Given the description of an element on the screen output the (x, y) to click on. 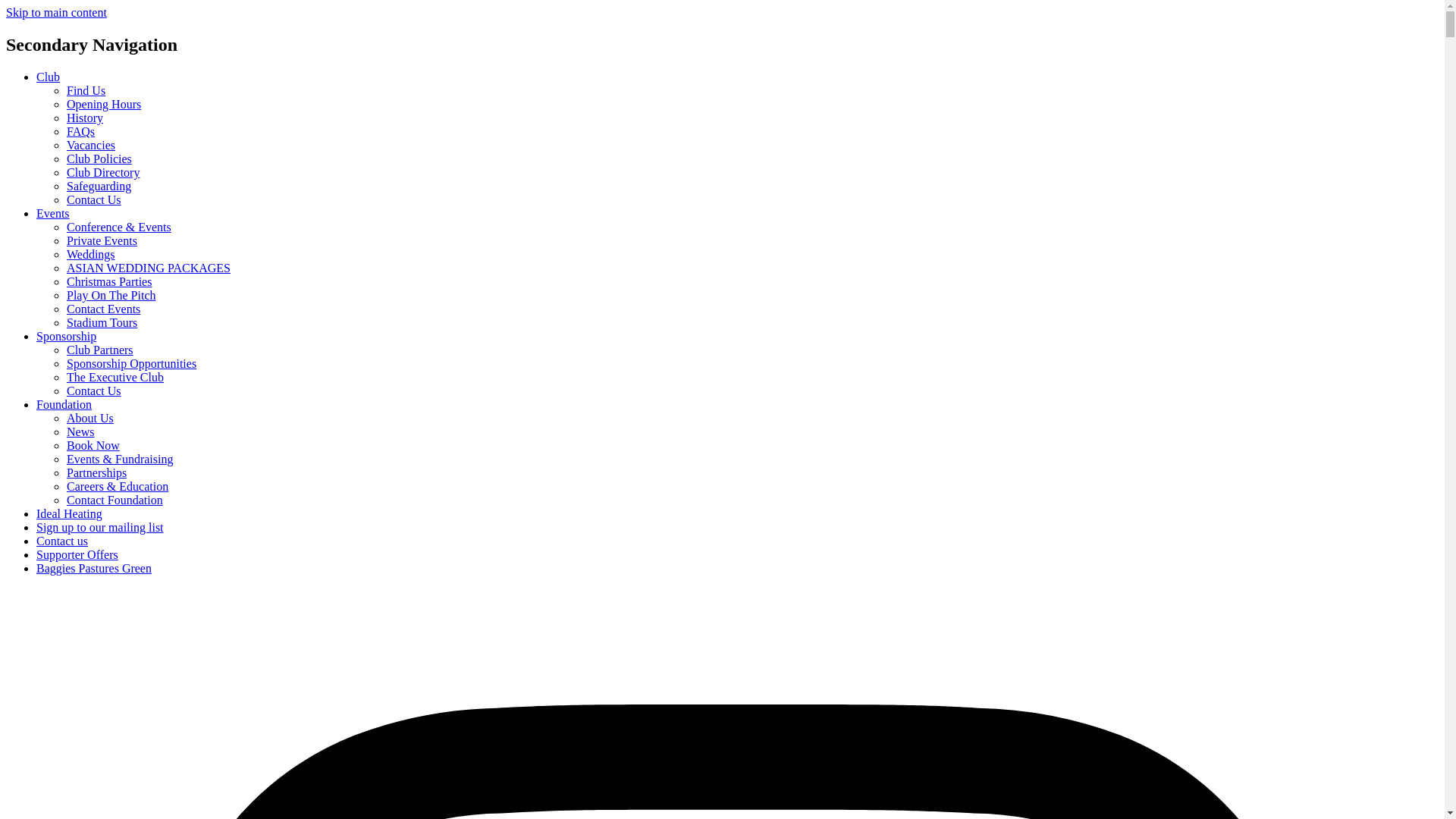
Christmas Parties (108, 281)
Club (47, 76)
ASIAN WEDDING PACKAGES (148, 267)
Contact Us (93, 199)
FAQs (80, 131)
Hold your event at The Hawthorns (101, 240)
Sponsorship Opportunities (131, 363)
Job Opportunities (90, 144)
Ideal Heating (68, 513)
Contact The Albion Foundation (114, 499)
